Given the description of an element on the screen output the (x, y) to click on. 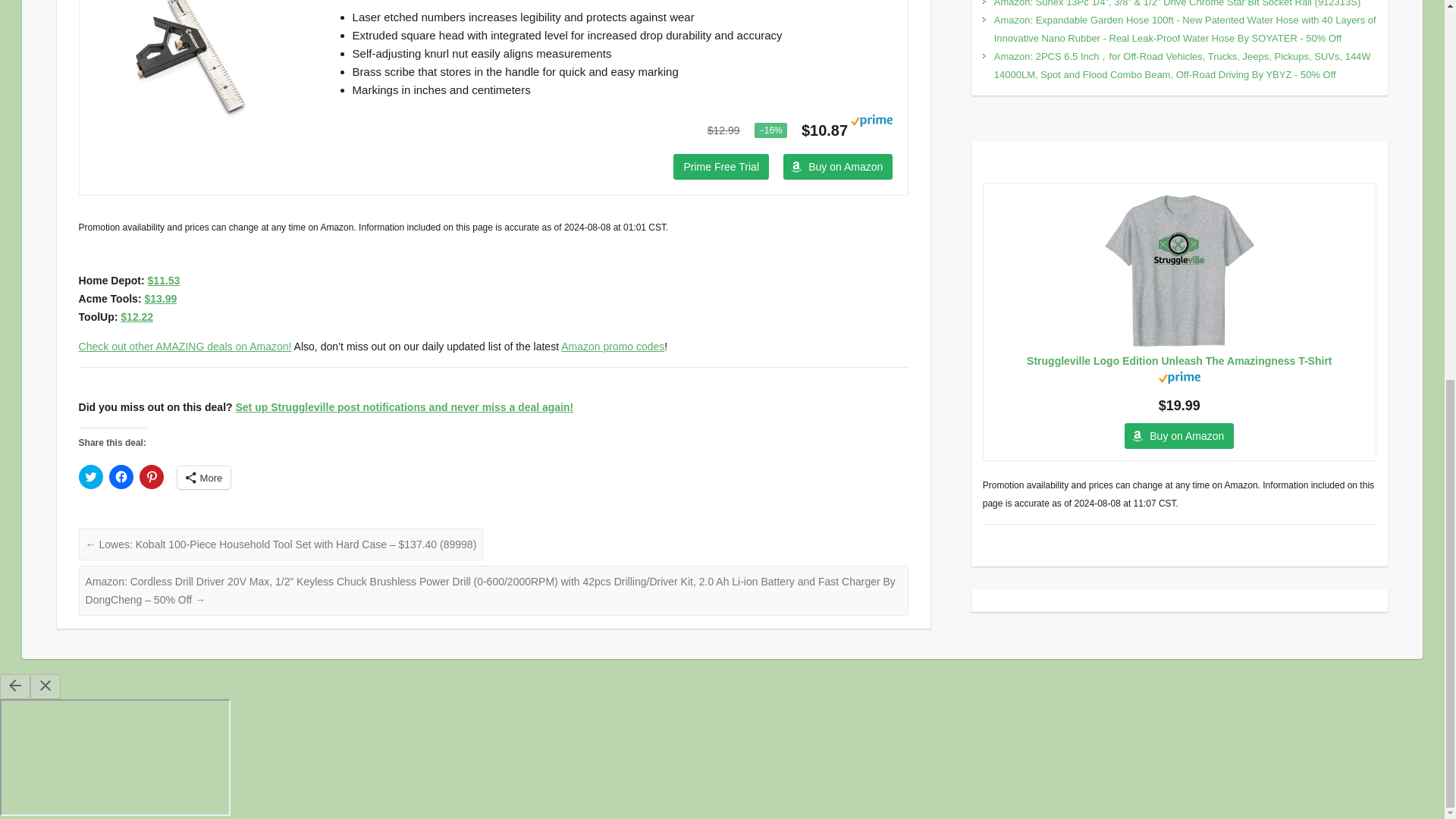
Buy on Amazon (837, 166)
Amazon Prime (871, 128)
Click to share on Facebook (121, 476)
Prime Free Trial (720, 166)
Crescent Lufkin 6' Combo Square - L06CS, Multi, One Size (188, 63)
Click to share on Twitter (90, 476)
Click to share on Pinterest (151, 476)
Struggleville Logo Edition Unleash The Amazingness T-Shirt (1179, 360)
Struggleville Logo Edition Unleash The Amazingness T-Shirt (1179, 270)
